Given the description of an element on the screen output the (x, y) to click on. 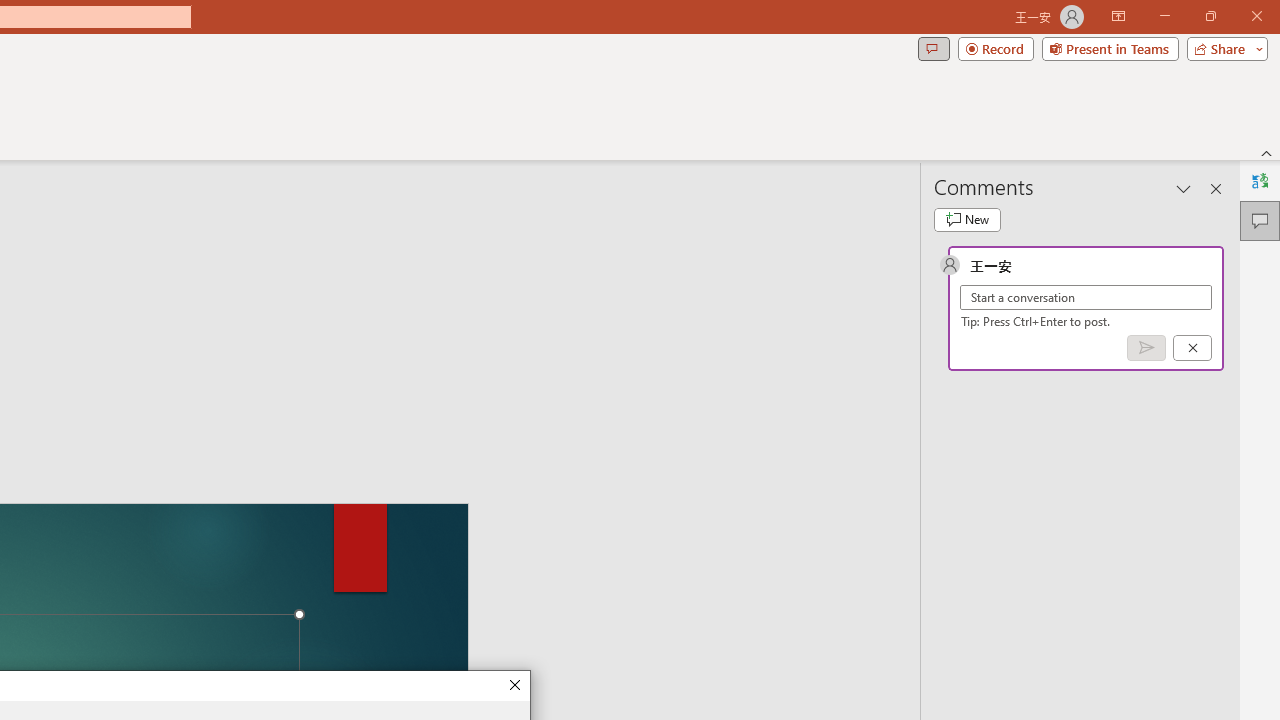
Close pane (1215, 188)
Post comment (Ctrl + Enter) (1146, 347)
Share (1223, 48)
Minimize (1164, 16)
Collapse the Ribbon (1267, 152)
Start a conversation (1085, 297)
Cancel (1192, 347)
Translator (1260, 180)
Restore Down (1210, 16)
Task Pane Options (1183, 188)
